Given the description of an element on the screen output the (x, y) to click on. 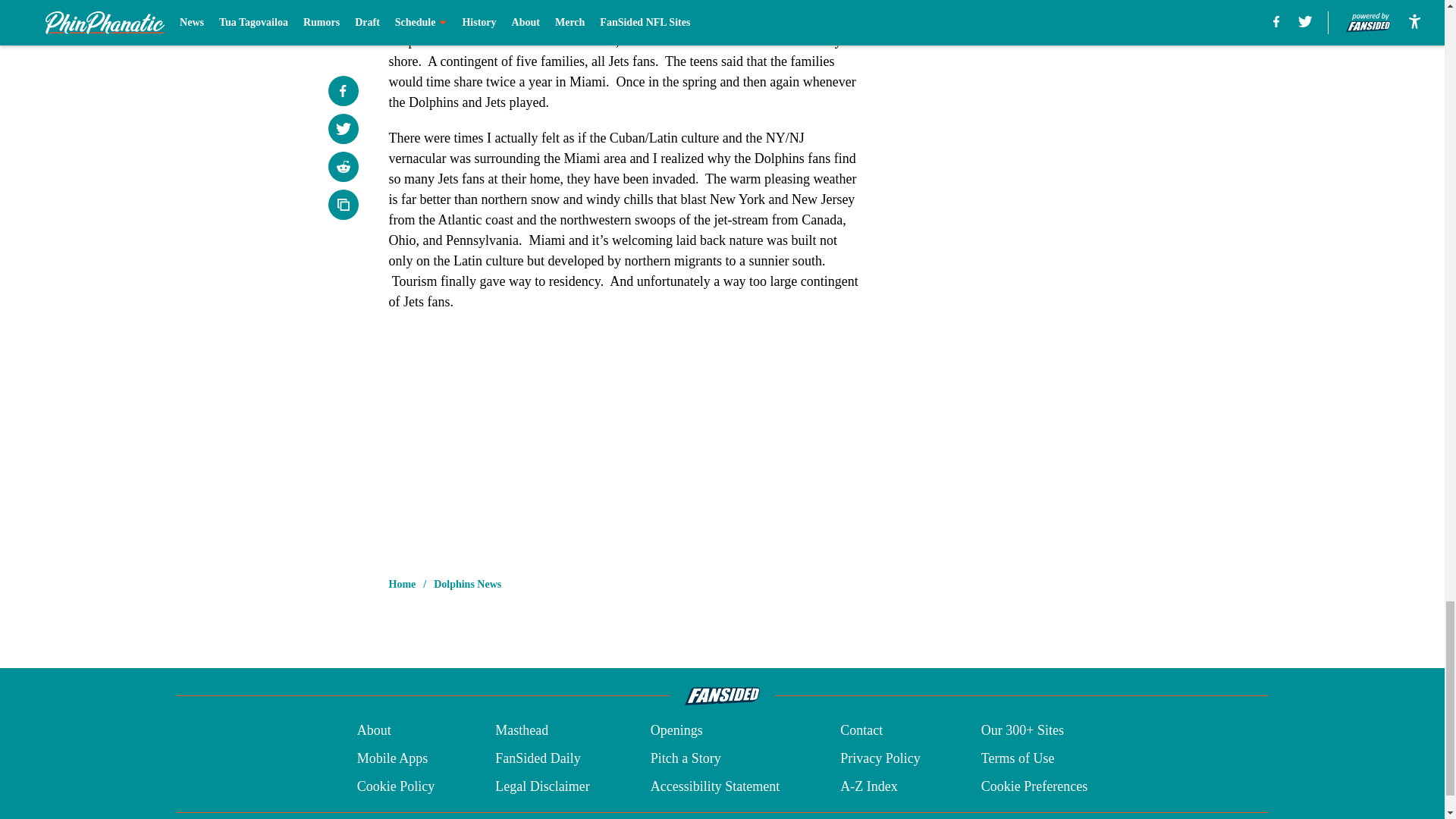
FanSided Daily (537, 758)
Dolphins News (466, 584)
Legal Disclaimer (542, 786)
Terms of Use (1017, 758)
Openings (676, 730)
About (373, 730)
A-Z Index (868, 786)
Contact (861, 730)
Home (401, 584)
Pitch a Story (685, 758)
Cookie Policy (395, 786)
Privacy Policy (880, 758)
Accessibility Statement (714, 786)
Mobile Apps (392, 758)
Masthead (521, 730)
